Given the description of an element on the screen output the (x, y) to click on. 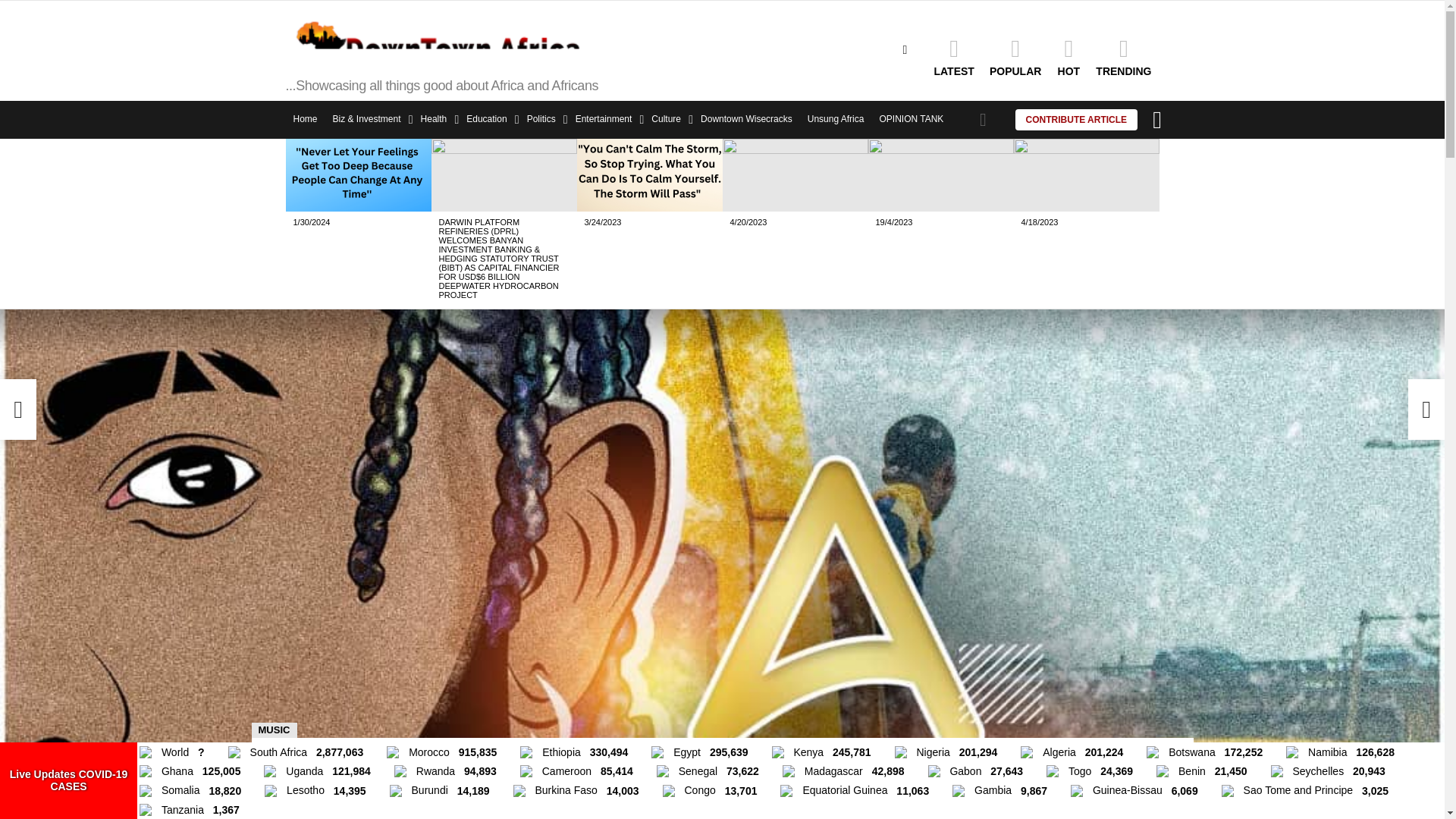
Health (436, 119)
HOT (1067, 56)
POPULAR (1014, 56)
Home (304, 119)
Politics (543, 119)
TRENDING (1122, 56)
Education (488, 119)
LATEST (953, 56)
